Given the description of an element on the screen output the (x, y) to click on. 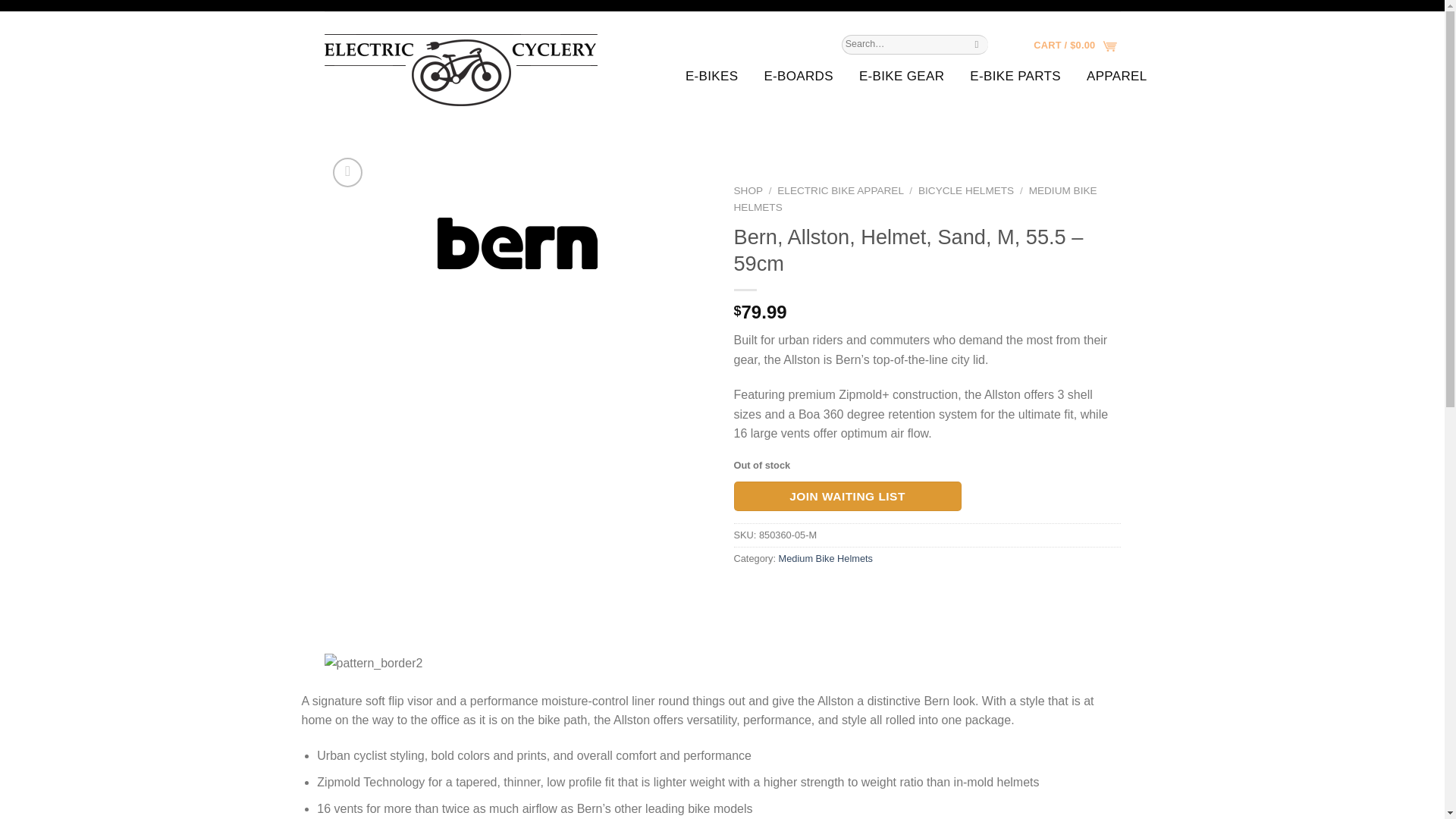
E-BIKE PARTS (1008, 76)
E-BIKE GEAR (893, 76)
Zoom (347, 172)
E-BOARDS (790, 76)
E-BIKES (703, 76)
Cart (1074, 40)
